Given the description of an element on the screen output the (x, y) to click on. 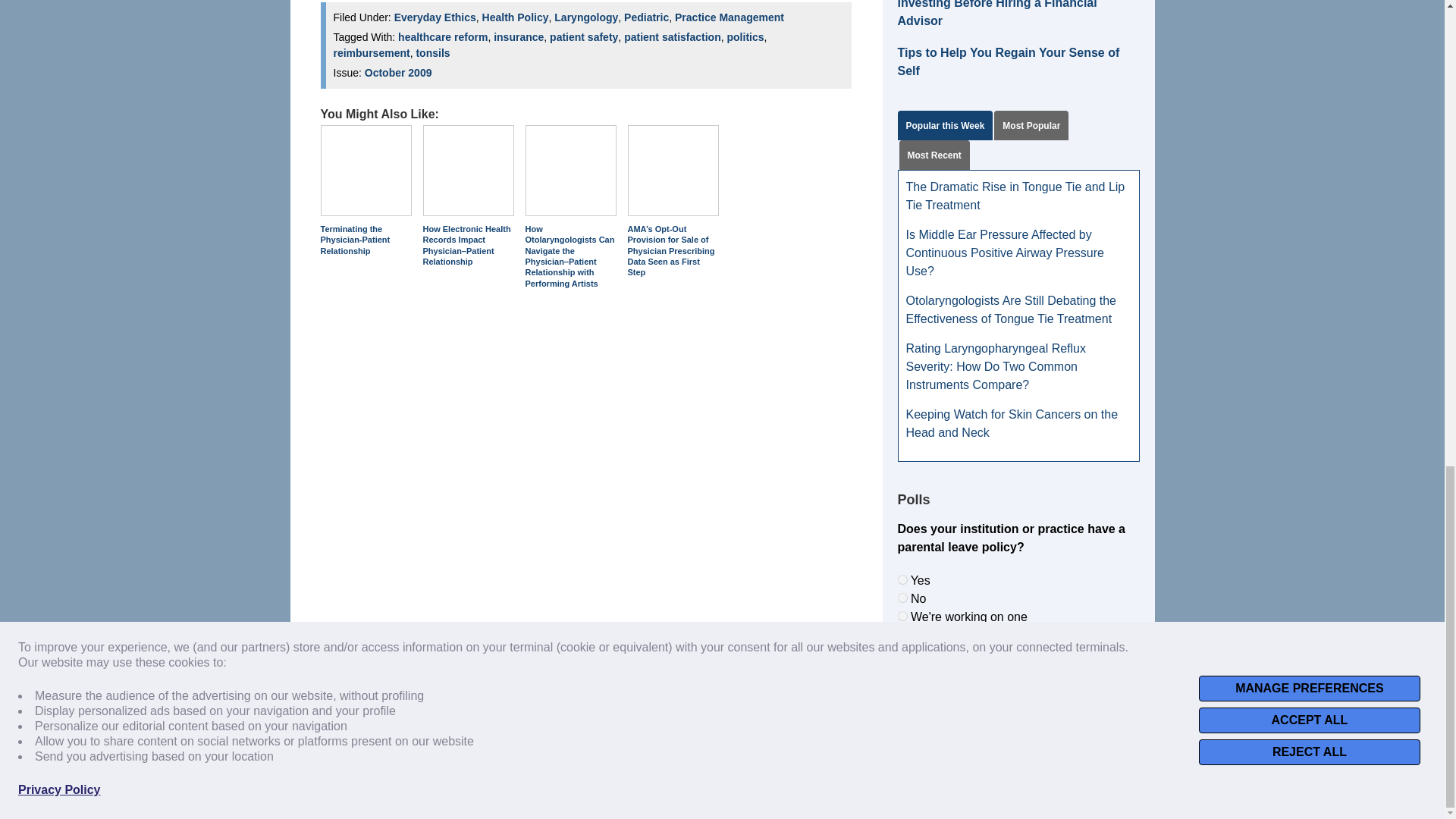
View Results Of This Poll (1018, 684)
309 (902, 597)
310 (902, 615)
308 (902, 579)
Terminating the Physician-Patient Relationship (365, 170)
   Vote    (1017, 651)
